Given the description of an element on the screen output the (x, y) to click on. 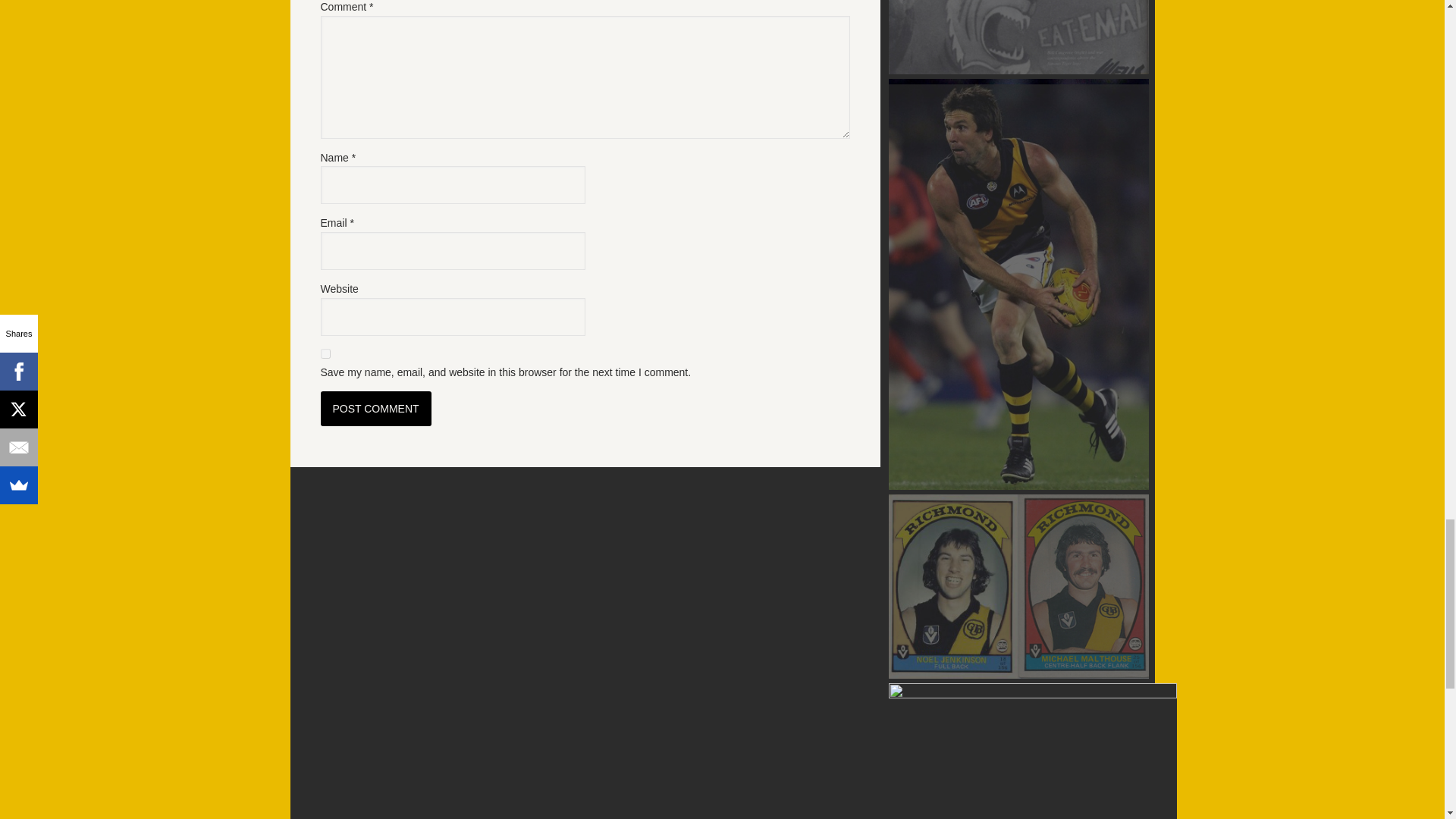
Post Comment (375, 408)
yes (325, 353)
Post Comment (375, 408)
